Given the description of an element on the screen output the (x, y) to click on. 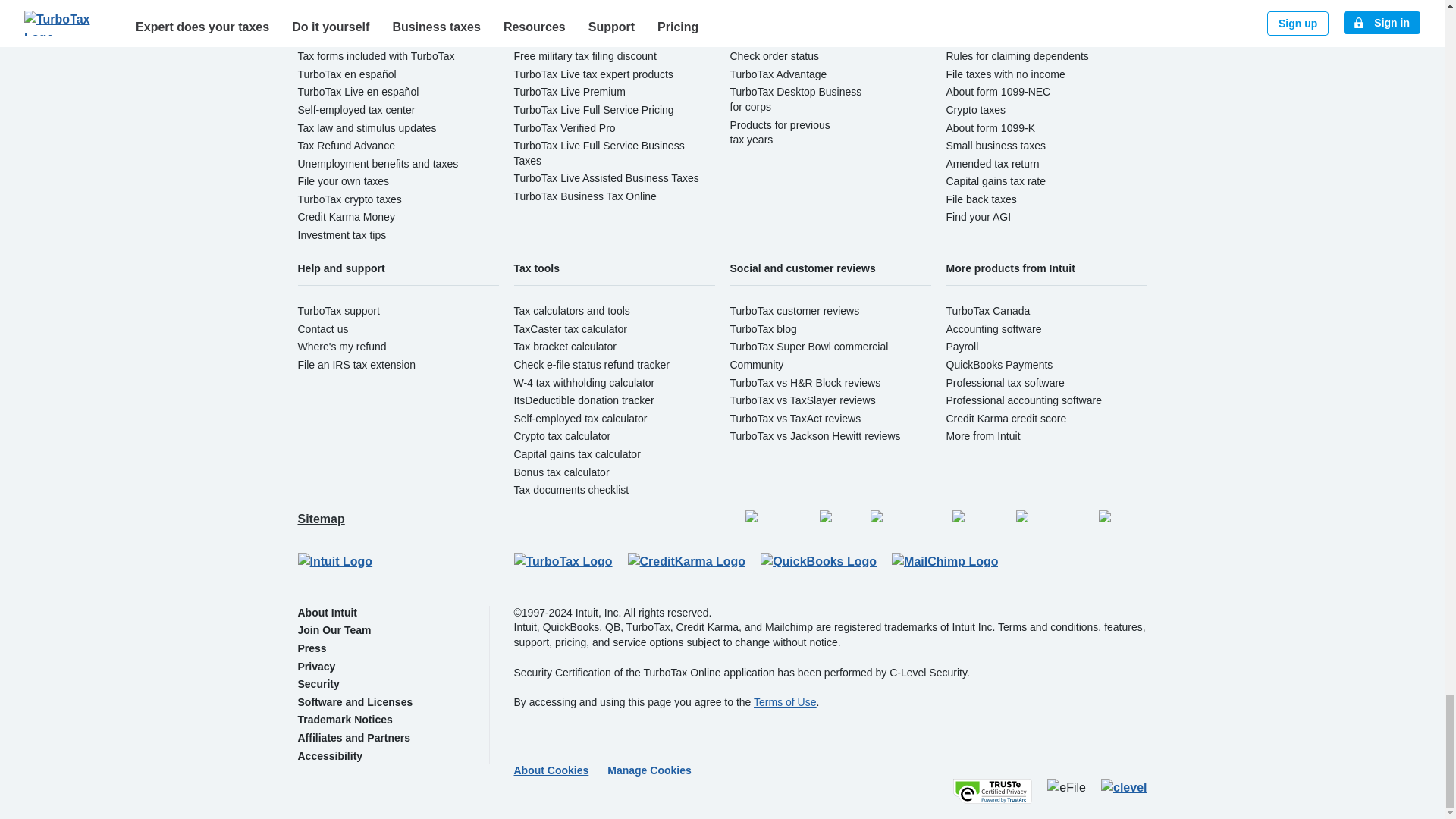
Free Military tax filing discount (584, 55)
TurboTax Verified Pro (564, 127)
Install TurboTax Desktop (787, 38)
TurboTax Business for corps (795, 99)
Check order status (773, 55)
TurboTax Advantage program (778, 73)
All online tax preparation software (377, 4)
Deluxe to maximize tax deductions (595, 20)
Free Edition tax filing (562, 4)
TurboTax Live tax expert products (592, 73)
